Given the description of an element on the screen output the (x, y) to click on. 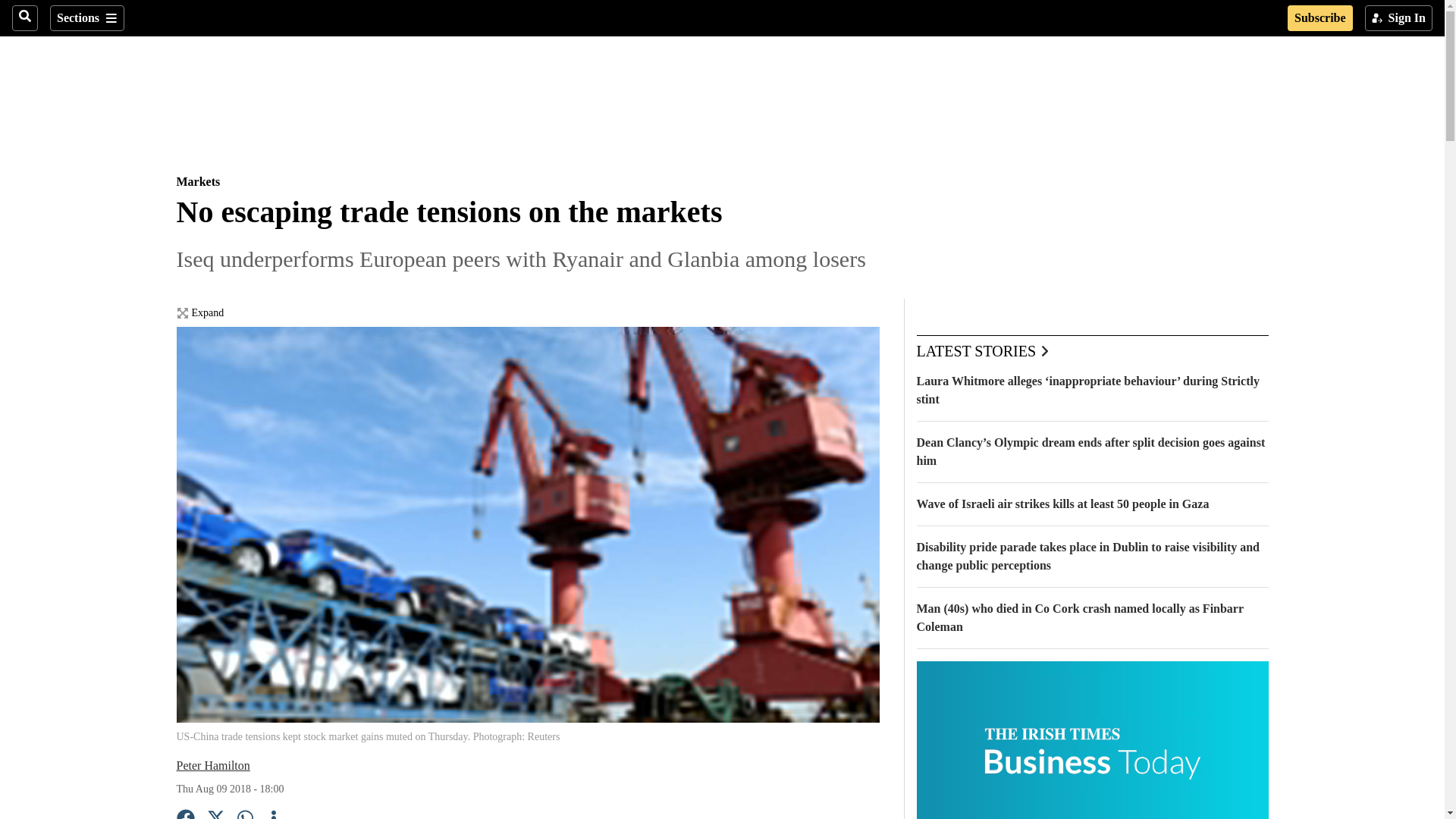
Subscribe (1319, 17)
X (215, 814)
Sign In (1398, 17)
Facebook (184, 814)
Sections (86, 17)
WhatsApp (244, 814)
